Given the description of an element on the screen output the (x, y) to click on. 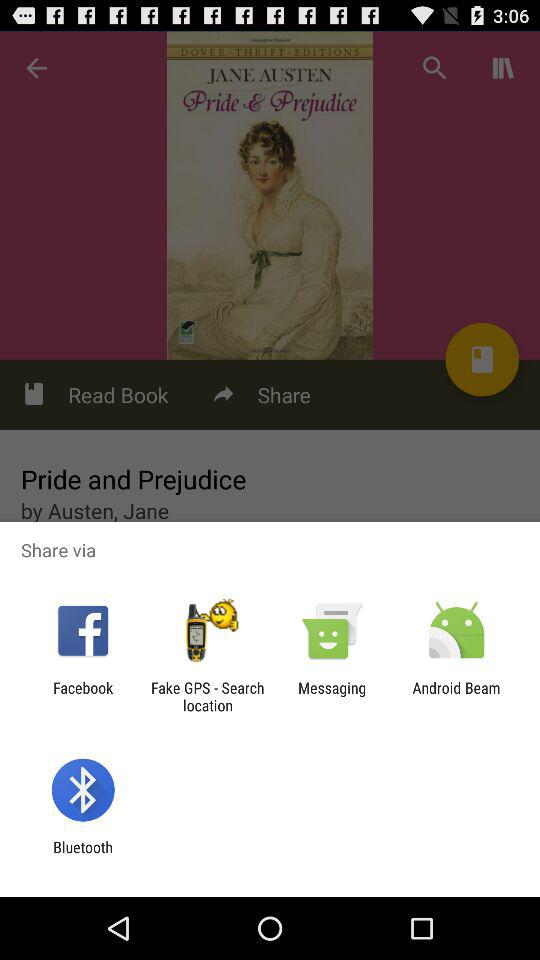
turn off app next to fake gps search app (83, 696)
